Given the description of an element on the screen output the (x, y) to click on. 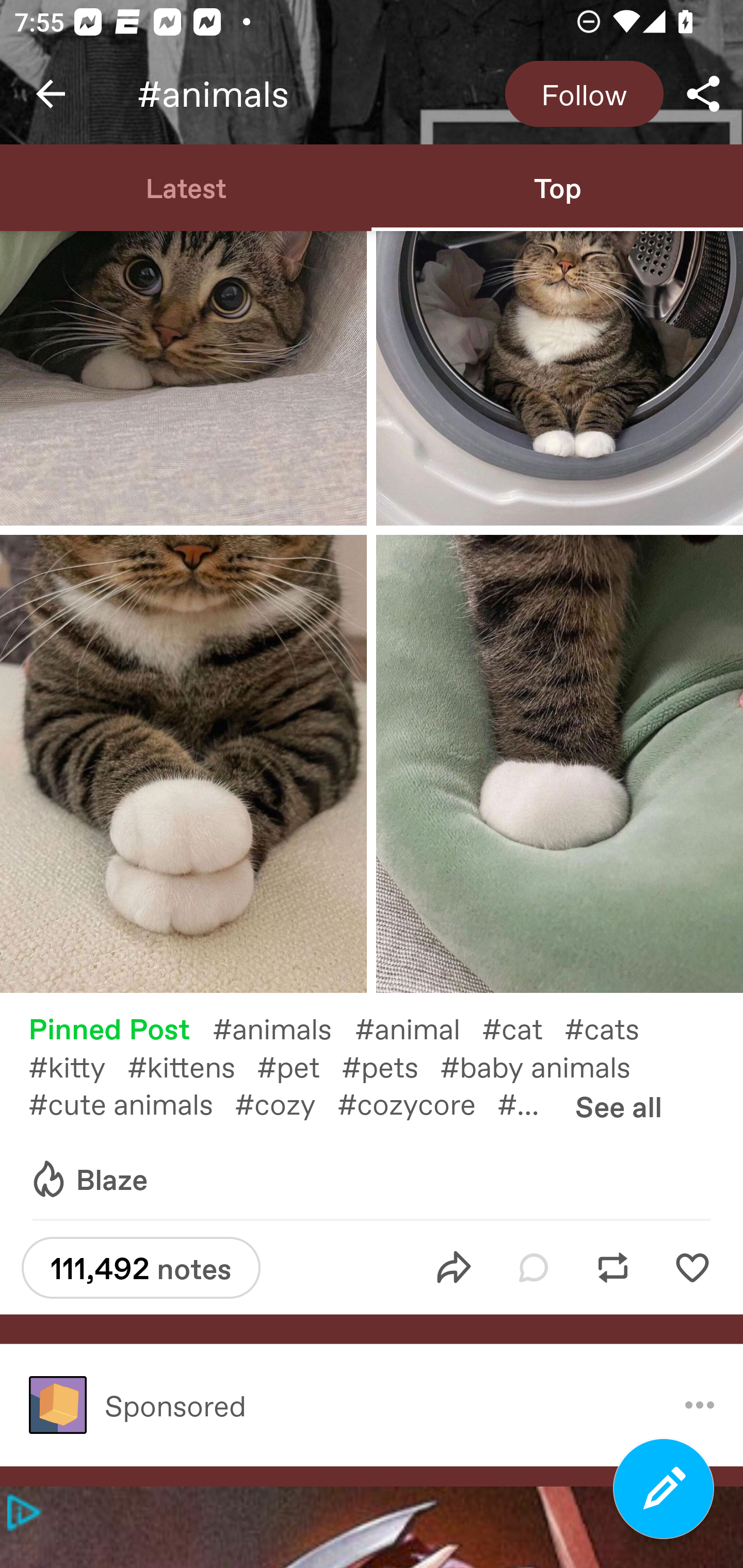
Navigate up (50, 93)
Follow (584, 94)
Latest (185, 187)
#animals (283, 1027)
#animal (418, 1027)
#cat (523, 1027)
#cats (612, 1027)
#kitty (77, 1066)
#kittens (192, 1066)
#pet (299, 1066)
#pets (390, 1066)
#baby animals (545, 1066)
#cute animals (131, 1103)
#cozy (285, 1103)
#cozycore (417, 1103)
#… (528, 1103)
See all (618, 1106)
Blaze Blaze Blaze (88, 1179)
Share post to message (454, 1267)
Reblog (612, 1267)
Like (691, 1267)
111,492 notes (140, 1267)
Why do I see this ad? (699, 1404)
Compose a new post (663, 1488)
privacy (19, 1512)
